Given the description of an element on the screen output the (x, y) to click on. 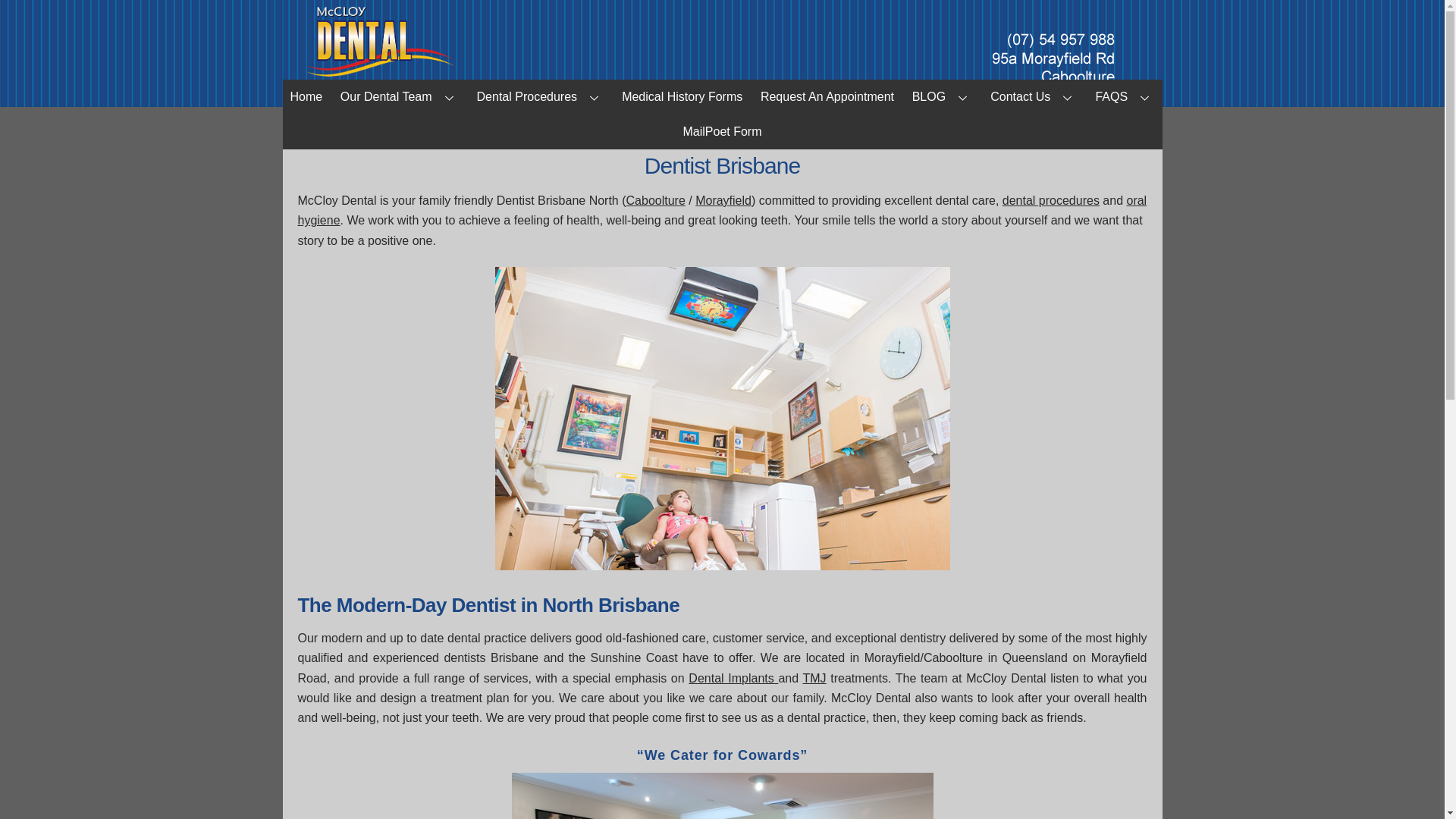
FAQS (1124, 96)
BLOG (941, 96)
Home (306, 96)
TMJ Dysfunction (815, 677)
McCloy Dental (380, 74)
Contact Us (1034, 96)
Dental Procedures (539, 96)
Medical History Forms (681, 96)
Request An Appointment (826, 96)
Our Dental Team (399, 96)
